Given the description of an element on the screen output the (x, y) to click on. 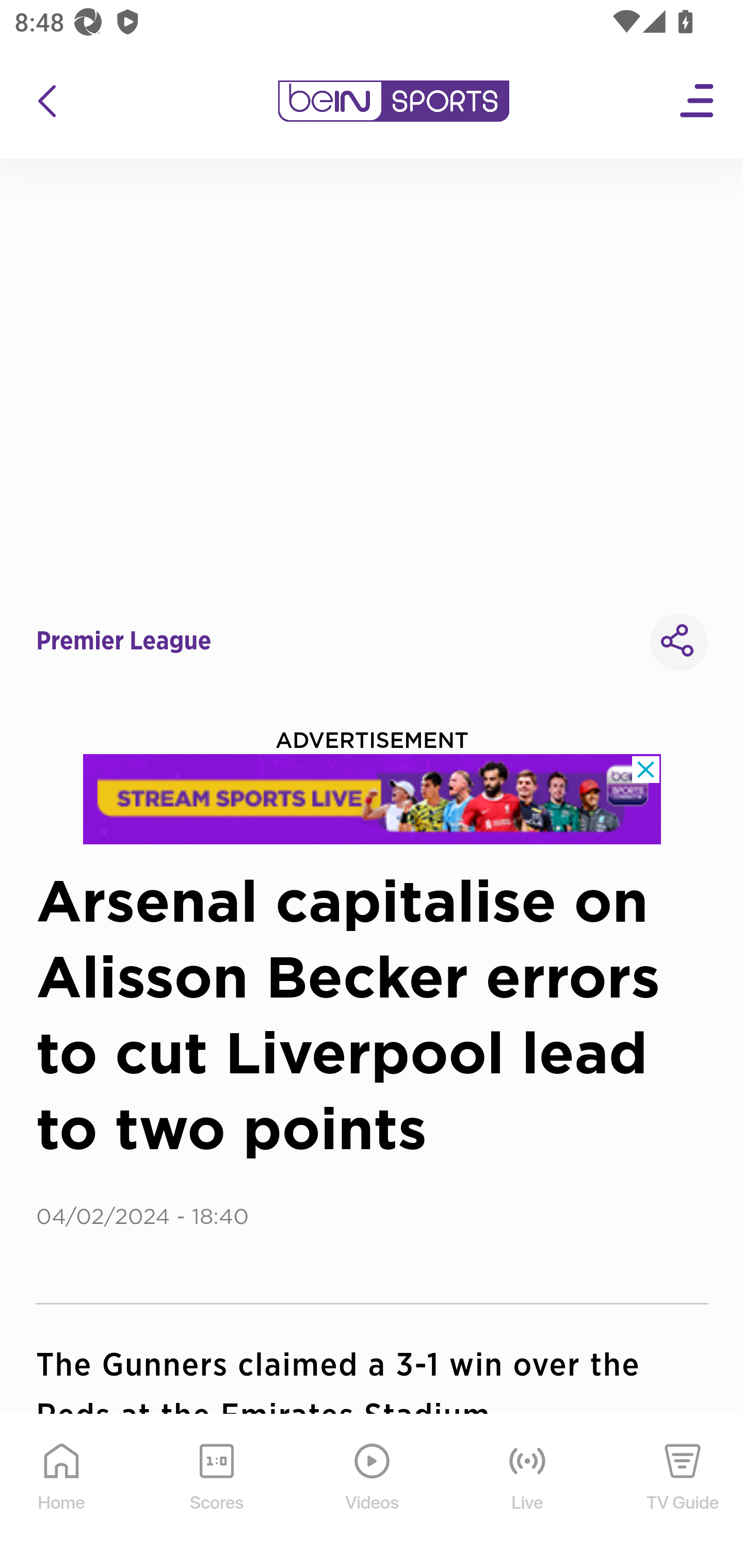
en-my?platform=mobile_android bein logo (392, 101)
icon back (46, 101)
Open Menu Icon (697, 101)
l8psv8uu (372, 799)
Home Home Icon Home (61, 1491)
Scores Scores Icon Scores (216, 1491)
Videos Videos Icon Videos (372, 1491)
TV Guide TV Guide Icon TV Guide (682, 1491)
